Given the description of an element on the screen output the (x, y) to click on. 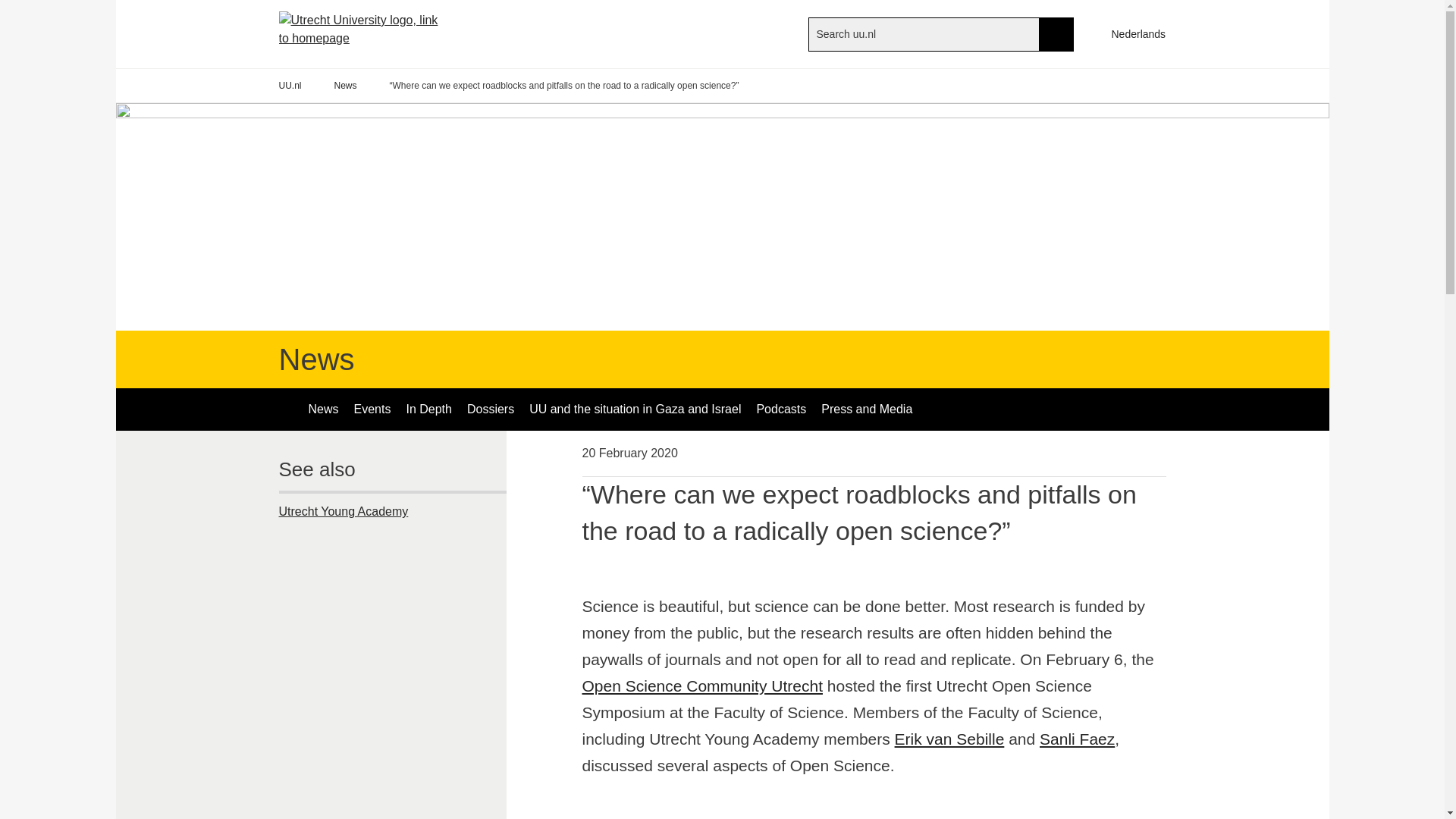
Nederlands (1131, 33)
Home (370, 33)
Press and Media (866, 409)
Skip to main content (7, 7)
News (345, 85)
SEARCH (1056, 33)
Podcasts (780, 409)
News (322, 409)
UU.nl (290, 85)
Events (372, 409)
Erik van Sebille (949, 738)
Utrecht Young Academy (392, 511)
Dossiers (490, 409)
In Depth (427, 409)
